Given the description of an element on the screen output the (x, y) to click on. 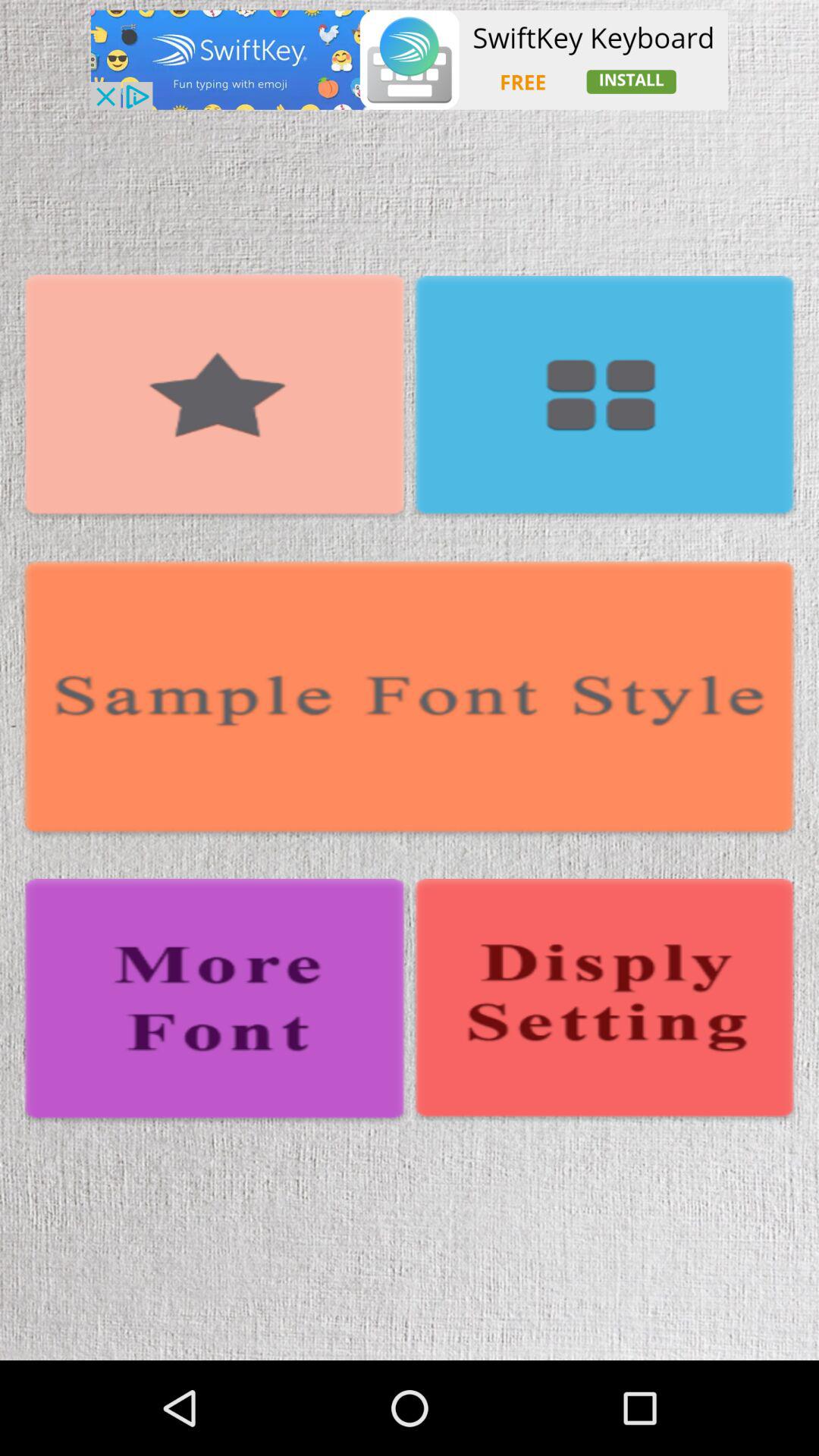
go to saved fonts (604, 397)
